Given the description of an element on the screen output the (x, y) to click on. 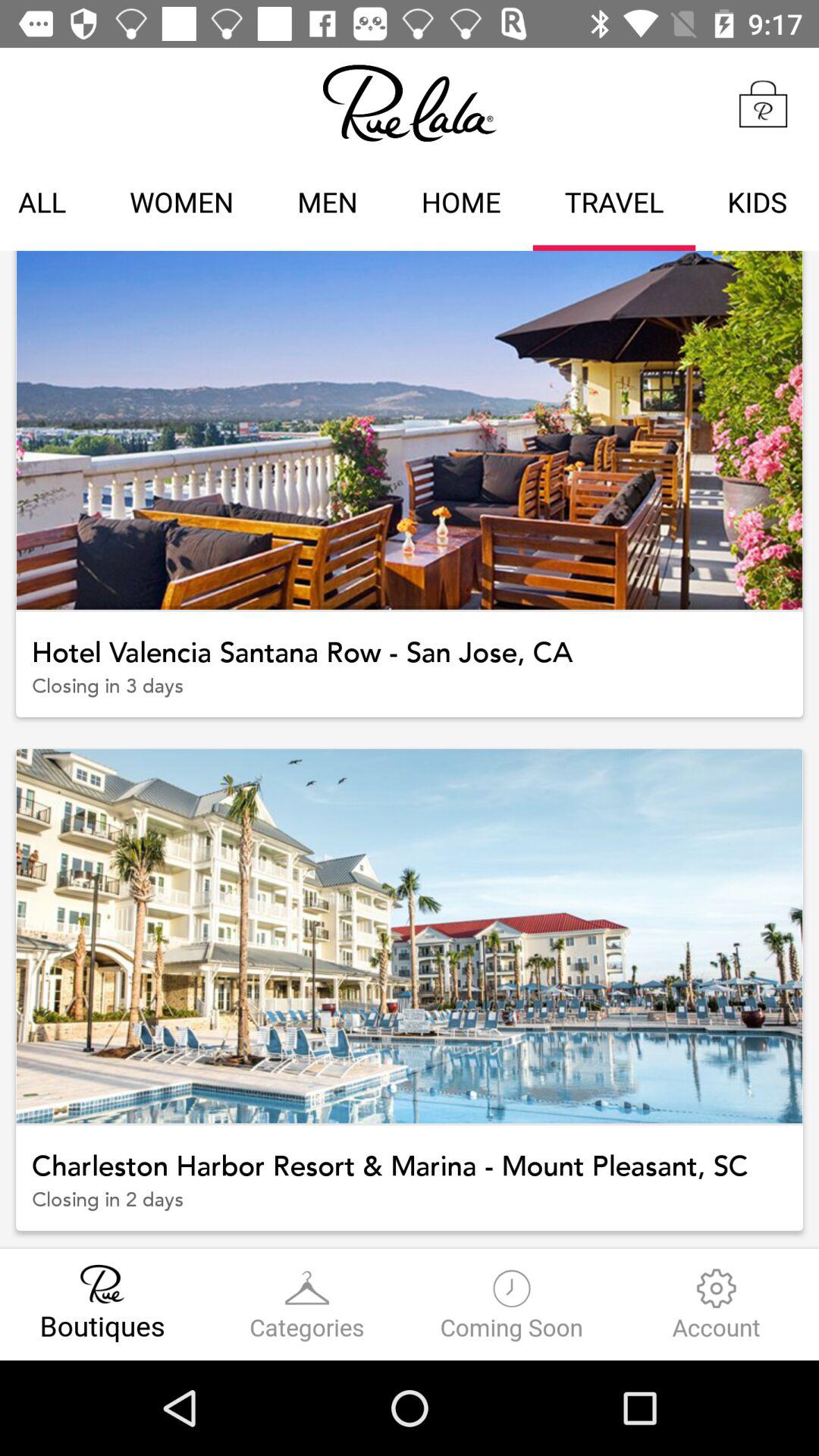
click icon next to men (460, 204)
